Given the description of an element on the screen output the (x, y) to click on. 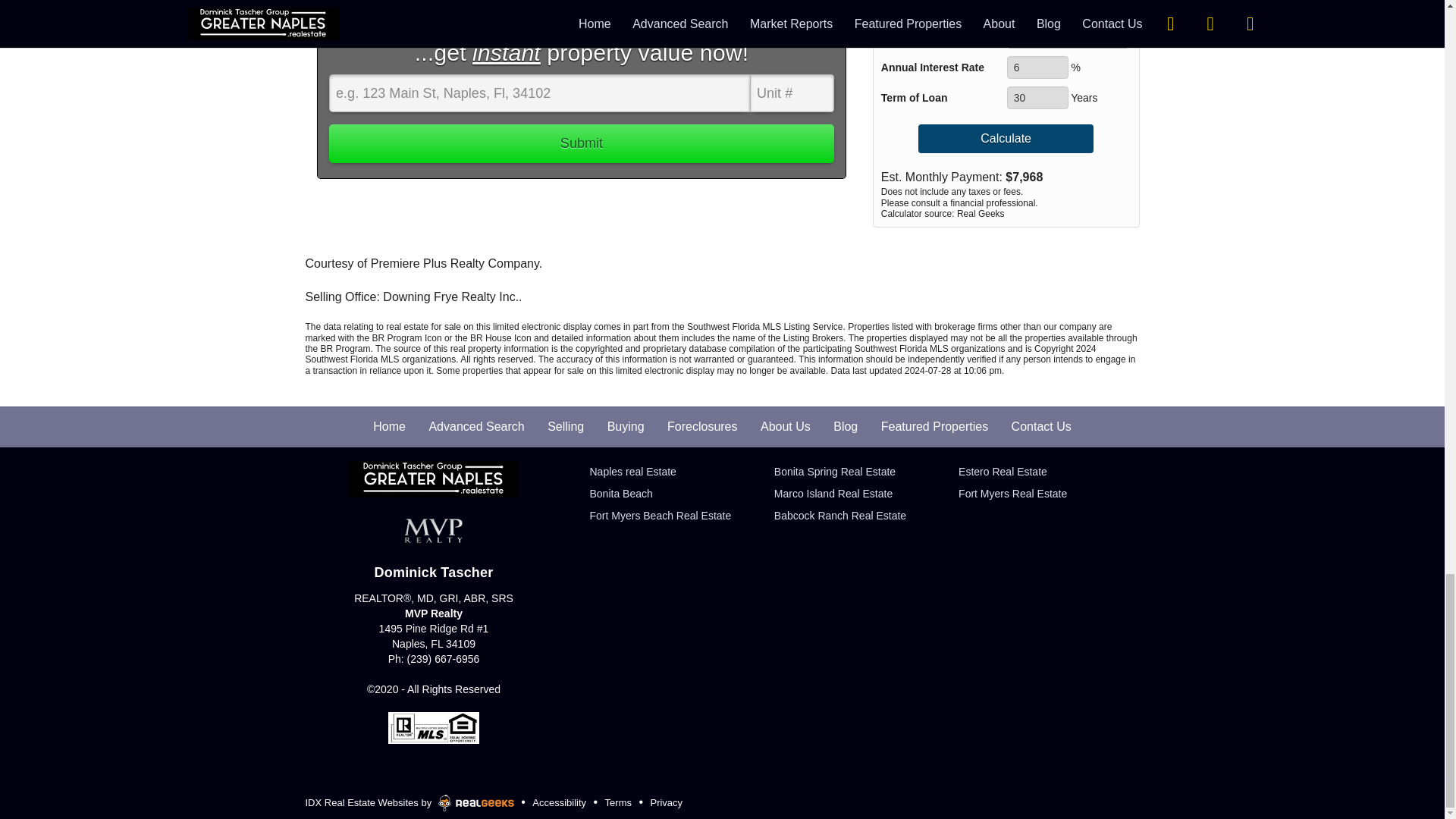
30 (1037, 97)
Home Page (433, 479)
1329000 (1068, 36)
6 (1037, 67)
